Given the description of an element on the screen output the (x, y) to click on. 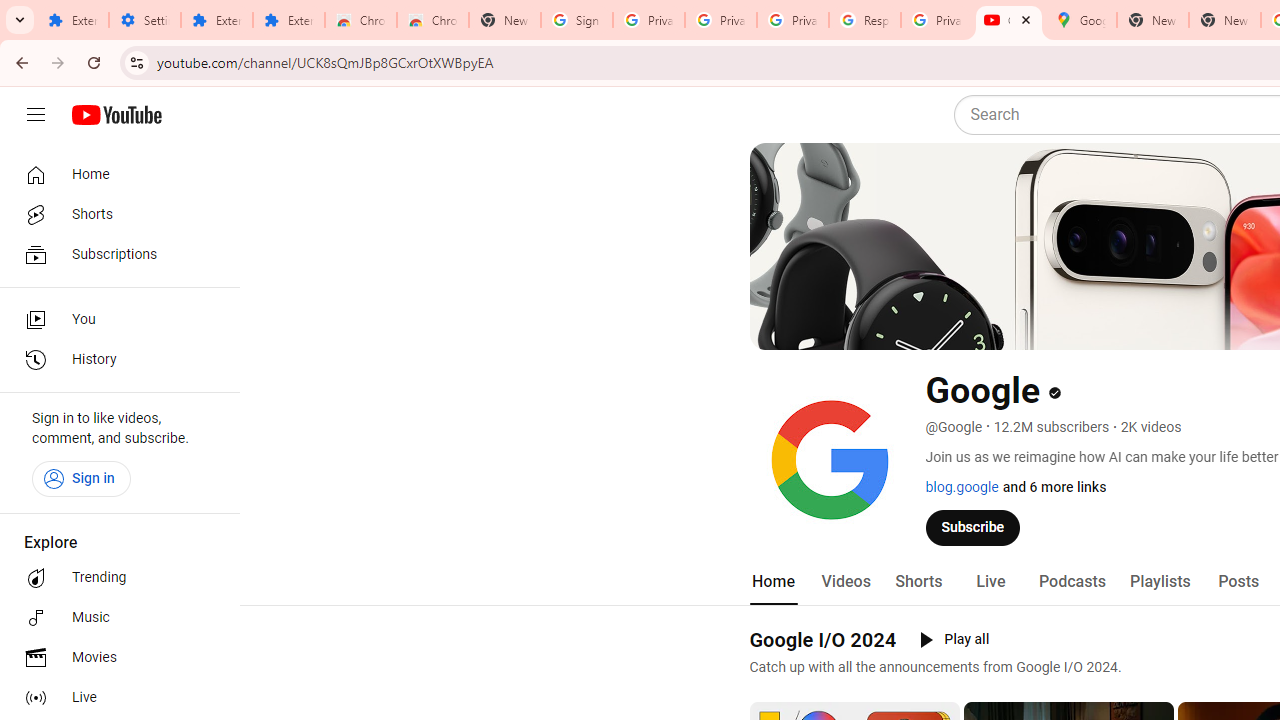
Home (113, 174)
Movies (113, 657)
